Given the description of an element on the screen output the (x, y) to click on. 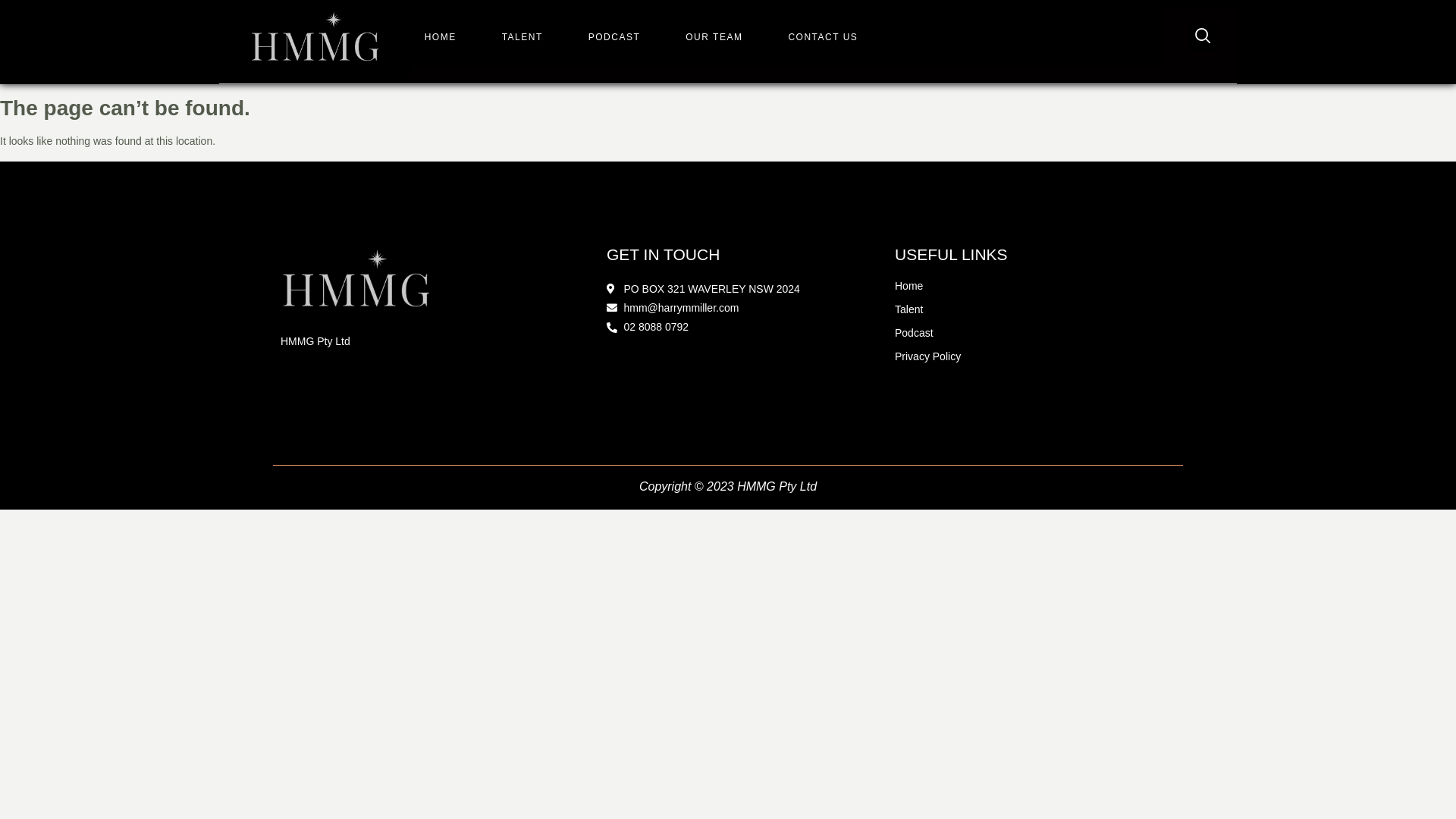
Home Element type: text (1034, 285)
02 8088 0792 Element type: text (746, 326)
HOME Element type: text (440, 36)
TALENT Element type: text (522, 36)
Podcast Element type: text (1034, 332)
PODCAST Element type: text (614, 36)
CONTACT US Element type: text (822, 36)
Privacy Policy Element type: text (1034, 356)
Talent Element type: text (1034, 309)
hmm@harrymmiller.com Element type: text (746, 307)
OUR TEAM Element type: text (713, 36)
